Given the description of an element on the screen output the (x, y) to click on. 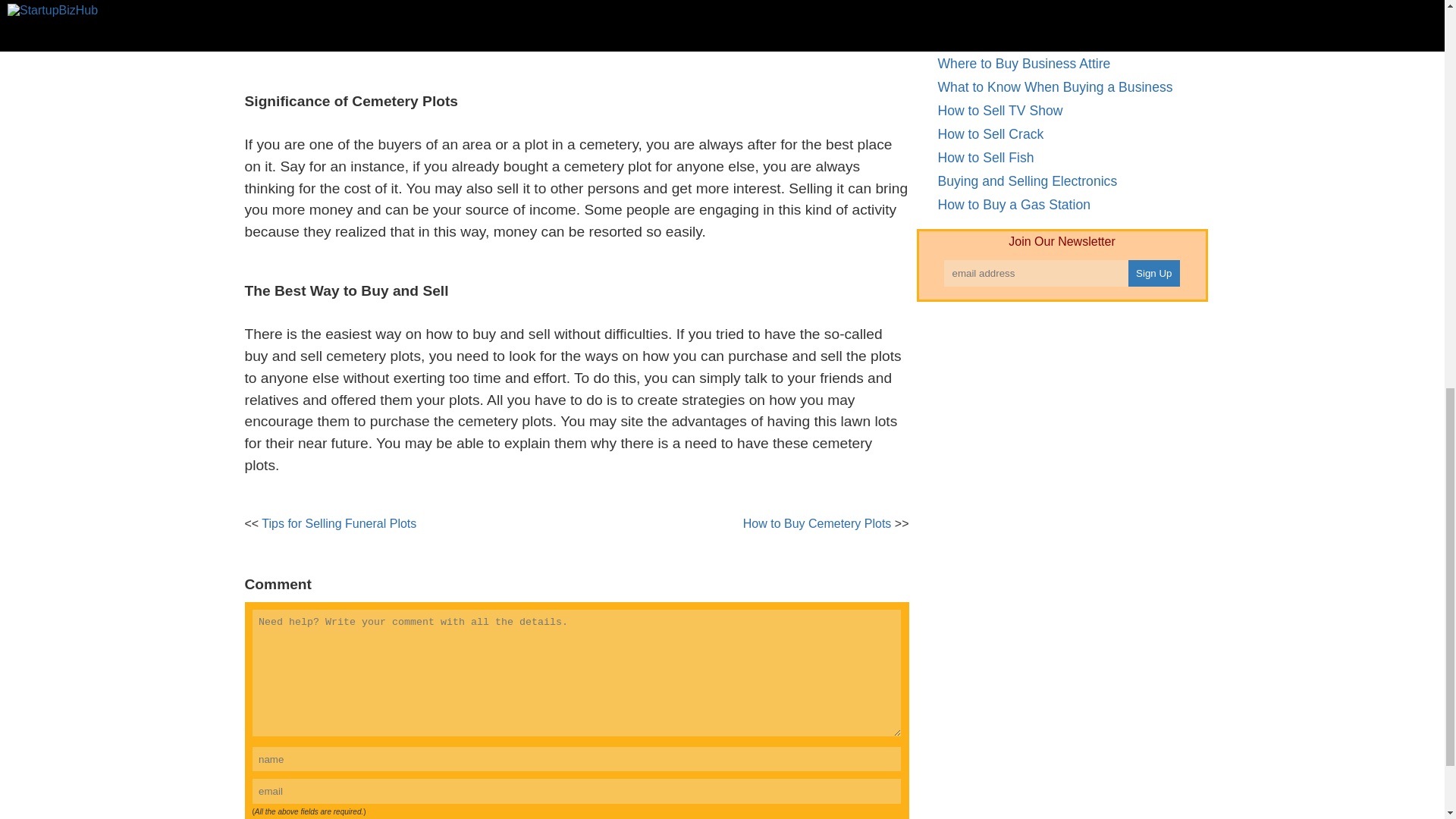
How to Sell to Hotels (999, 39)
How to Buy Cemetery Plots (816, 522)
Sign Up (1153, 273)
Tips for Selling Funeral Plots (339, 522)
How to Sell Cleaning Products (1027, 16)
